Given the description of an element on the screen output the (x, y) to click on. 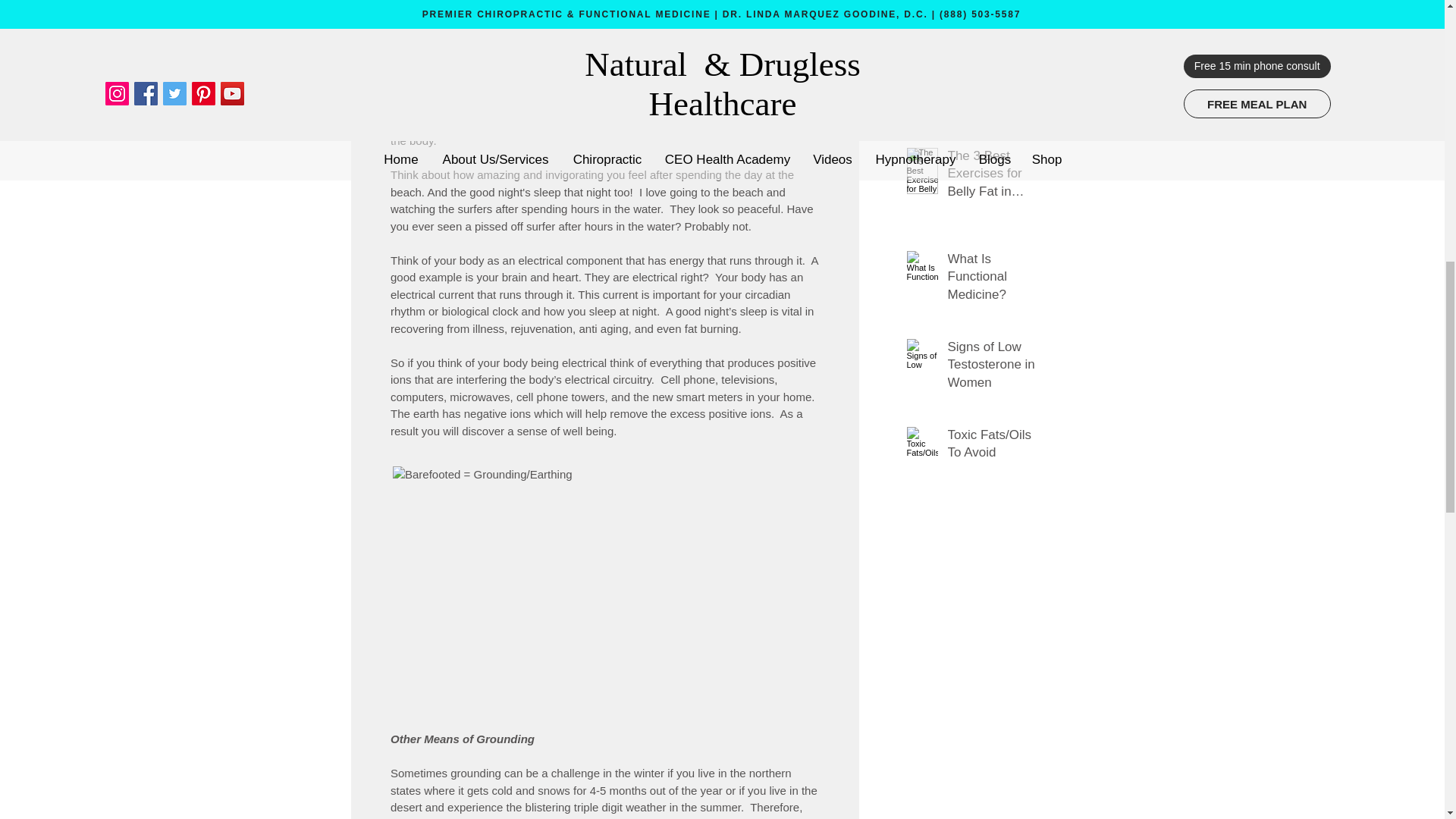
Why Some Women Prefer Feminine Men (996, 102)
Signs of Low Testosterone in Women (996, 368)
What's The Best Sleeping Position (996, 22)
The 3 Best Exercises for Belly Fat in Lower Abs (996, 177)
What Is Functional Medicine? (996, 280)
